Given the description of an element on the screen output the (x, y) to click on. 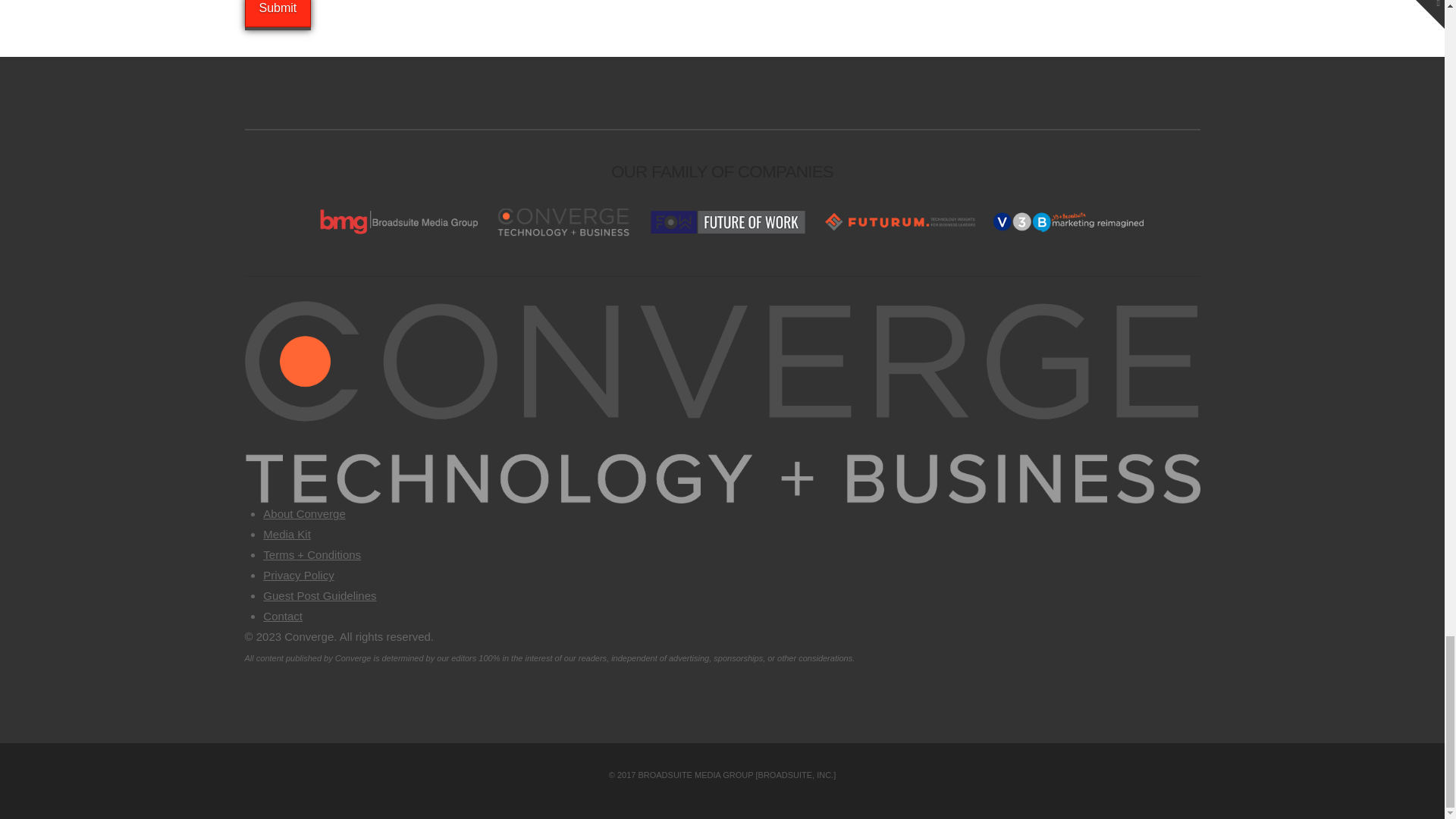
Submit (277, 13)
